Given the description of an element on the screen output the (x, y) to click on. 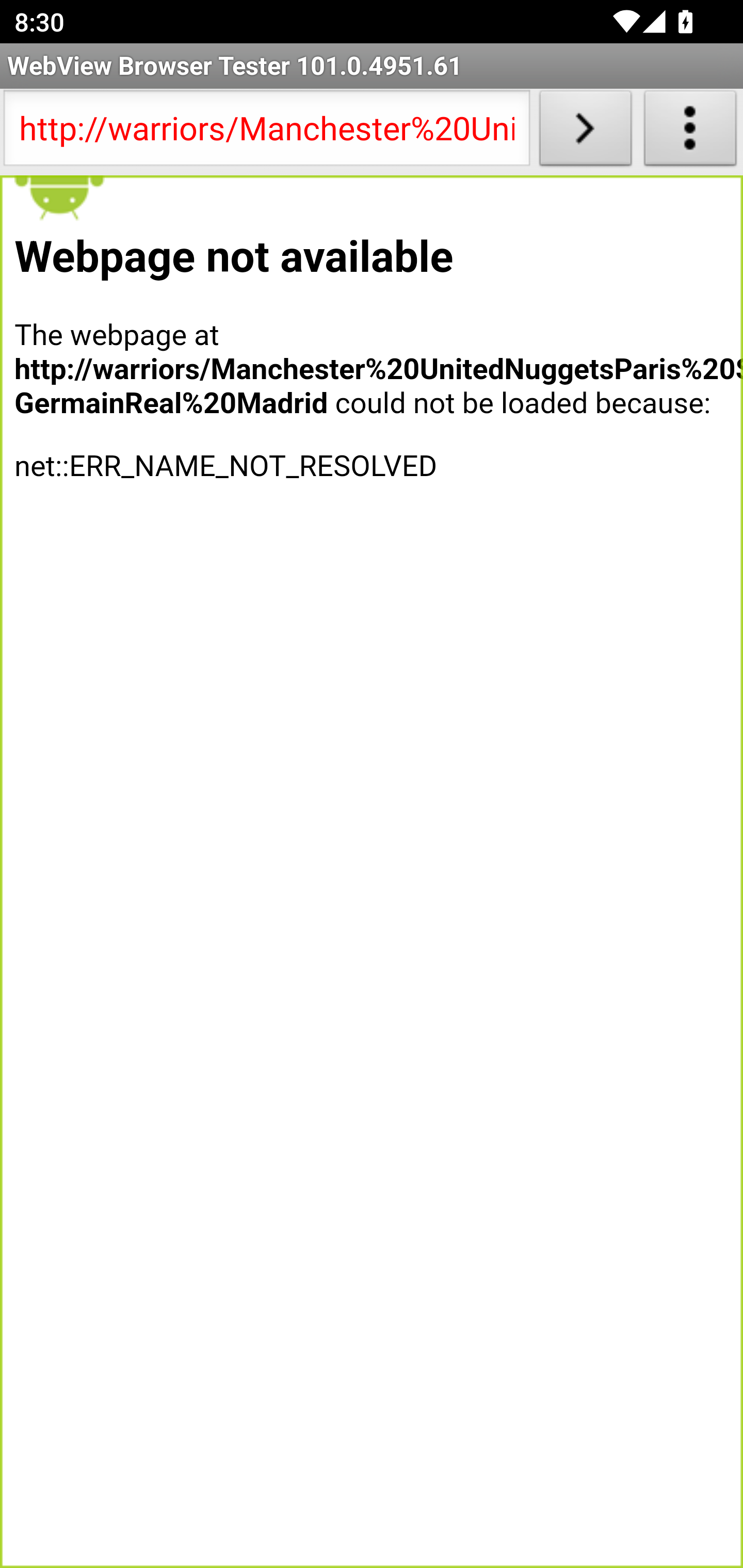
Load URL (585, 132)
About WebView (690, 132)
